Given the description of an element on the screen output the (x, y) to click on. 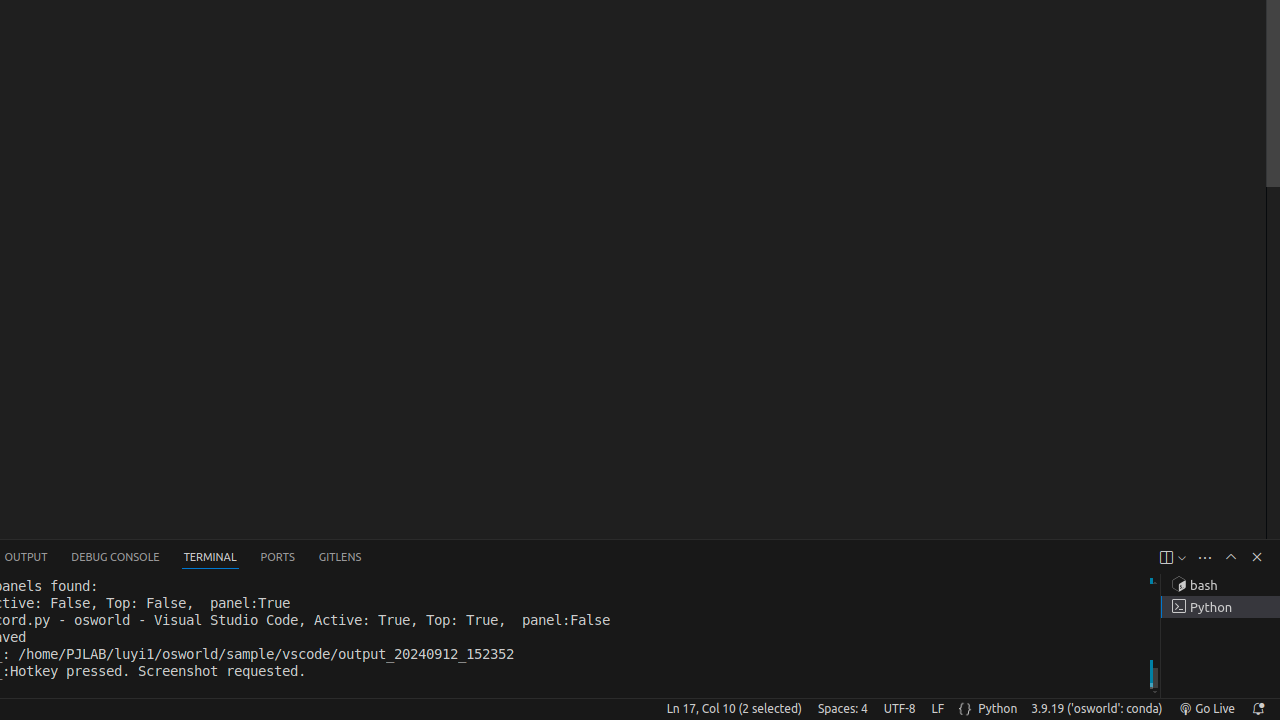
Hide Panel Element type: push-button (1257, 557)
Maximize Panel Size Element type: check-box (1231, 557)
Views and More Actions... Element type: push-button (1205, 557)
Spaces: 4 Element type: push-button (842, 709)
New Terminal (Ctrl+Shift+`) [Alt] Split Terminal (Ctrl+Shift+5) Element type: push-button (1166, 557)
